Given the description of an element on the screen output the (x, y) to click on. 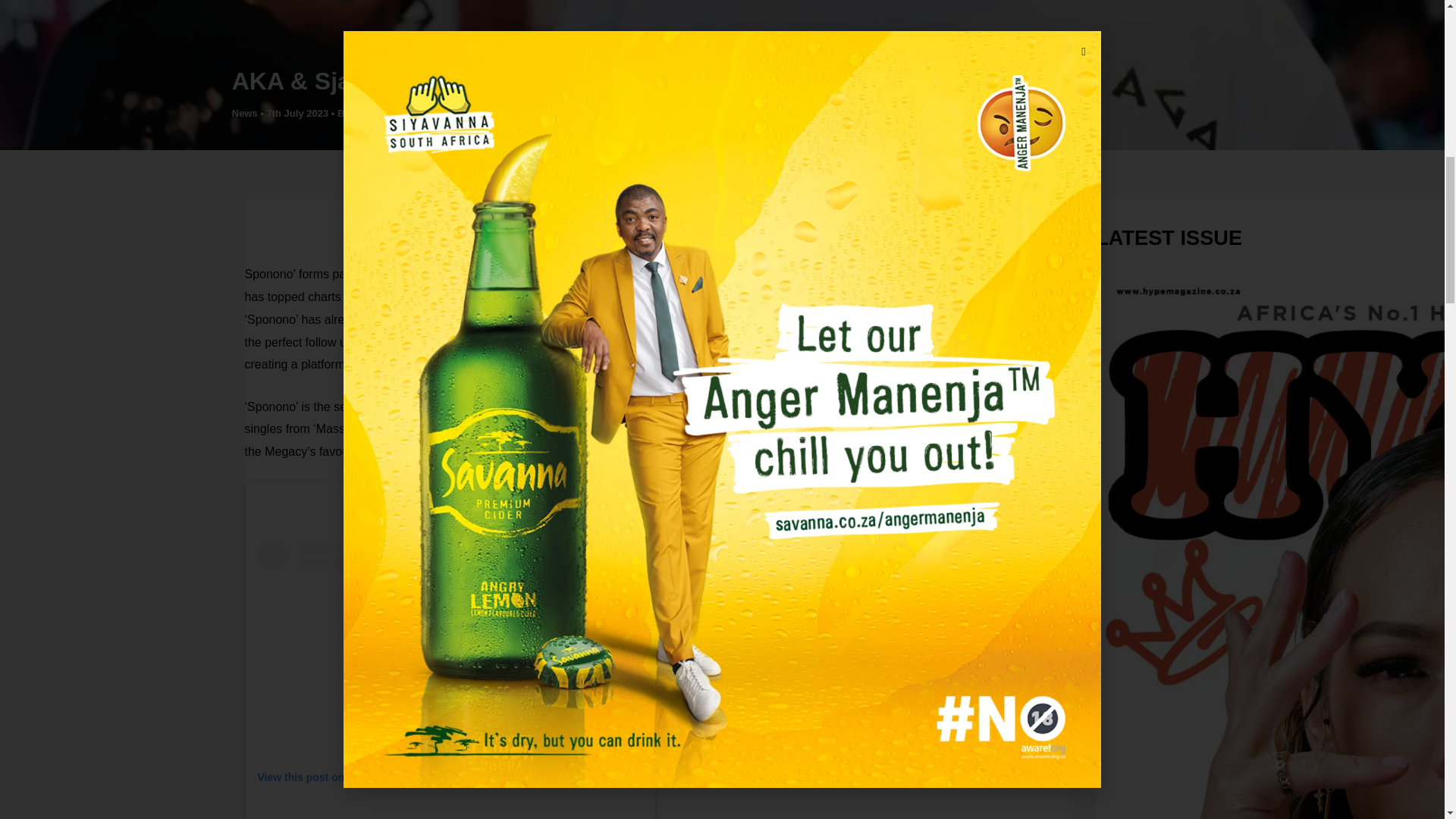
Lolly (363, 112)
News (244, 112)
View all posts by Lolly (363, 112)
